Given the description of an element on the screen output the (x, y) to click on. 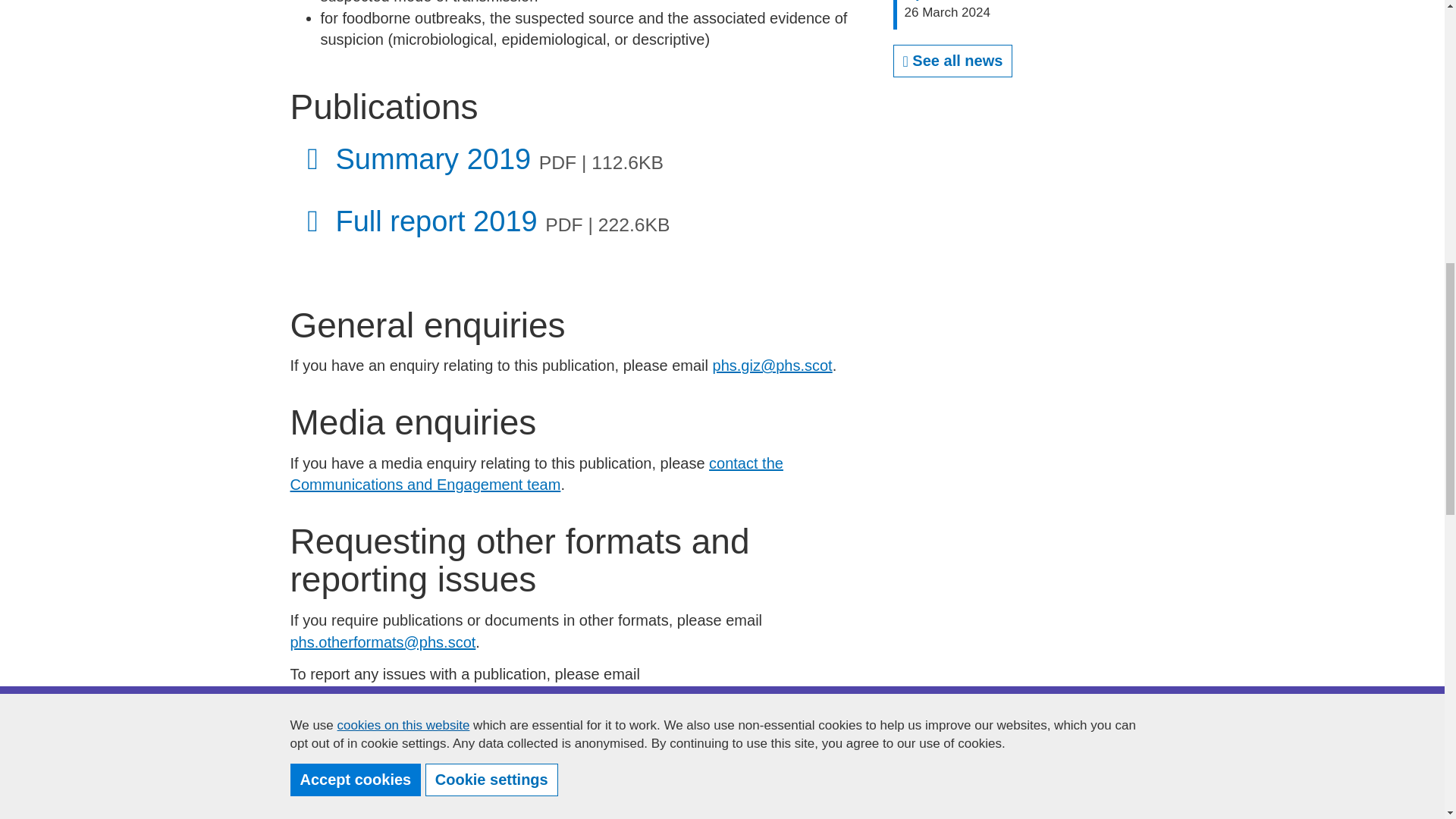
Data and Intelligence (386, 812)
Improving Health (725, 812)
See all news (1025, 15)
Media enquiries (953, 60)
contact the Communications and Engagement team (536, 474)
Health Protection Scotland (536, 474)
Update on TB in Scotland (555, 812)
